Given the description of an element on the screen output the (x, y) to click on. 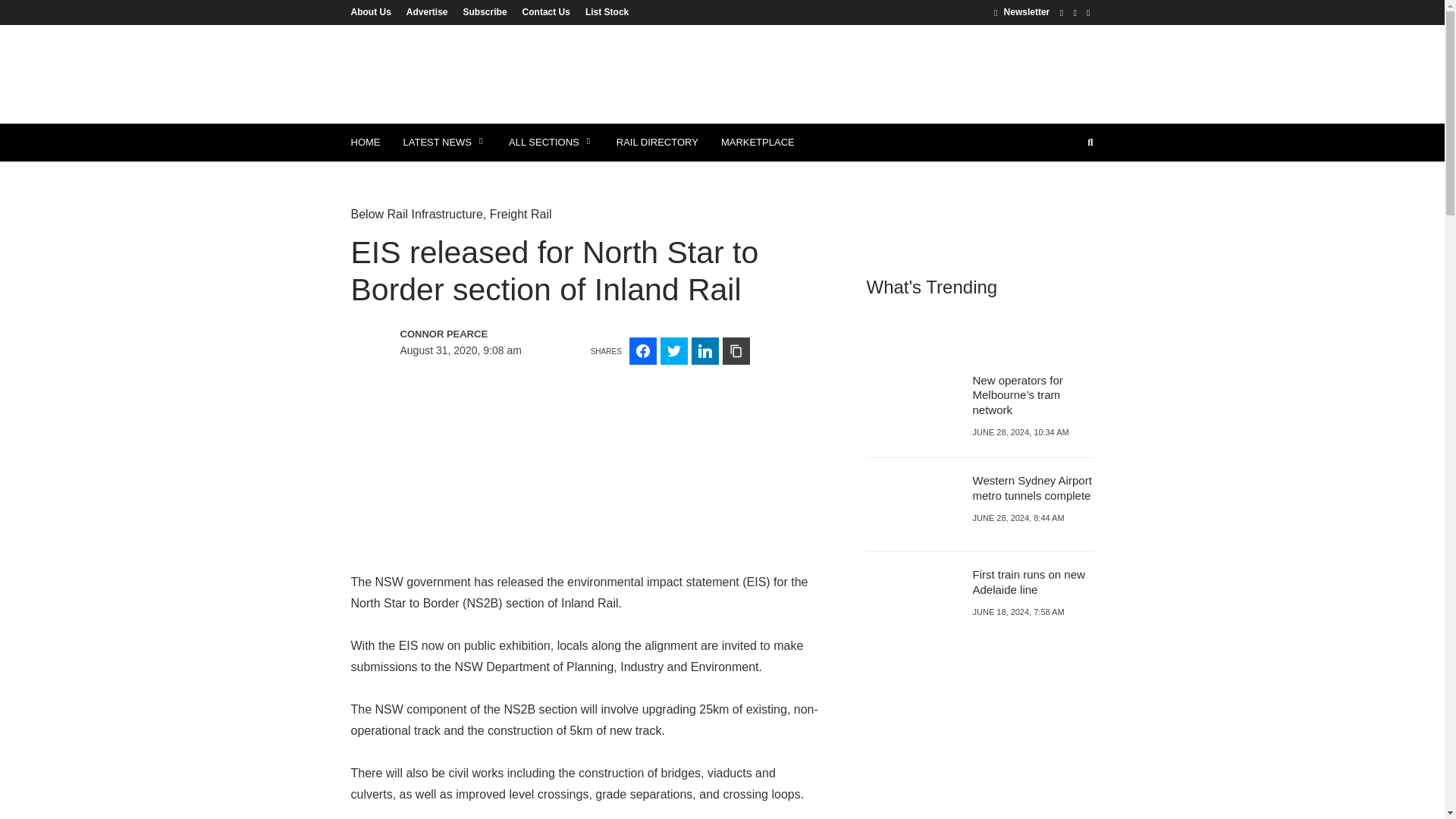
Share on Copy Link (735, 350)
List Stock (603, 11)
Subscribe (485, 11)
Contact Us (546, 11)
LATEST NEWS (444, 142)
View First train runs on new Adelaide line (1028, 582)
About Us (373, 11)
Share on Facebook (642, 350)
Share on Twitter (674, 350)
View Western Sydney Airport metro tunnels complete (1031, 488)
Share on LinkedIn (705, 350)
Advertise (426, 11)
ALL SECTIONS (551, 142)
View all posts by Connor Pearce (465, 333)
HOME (365, 142)
